Given the description of an element on the screen output the (x, y) to click on. 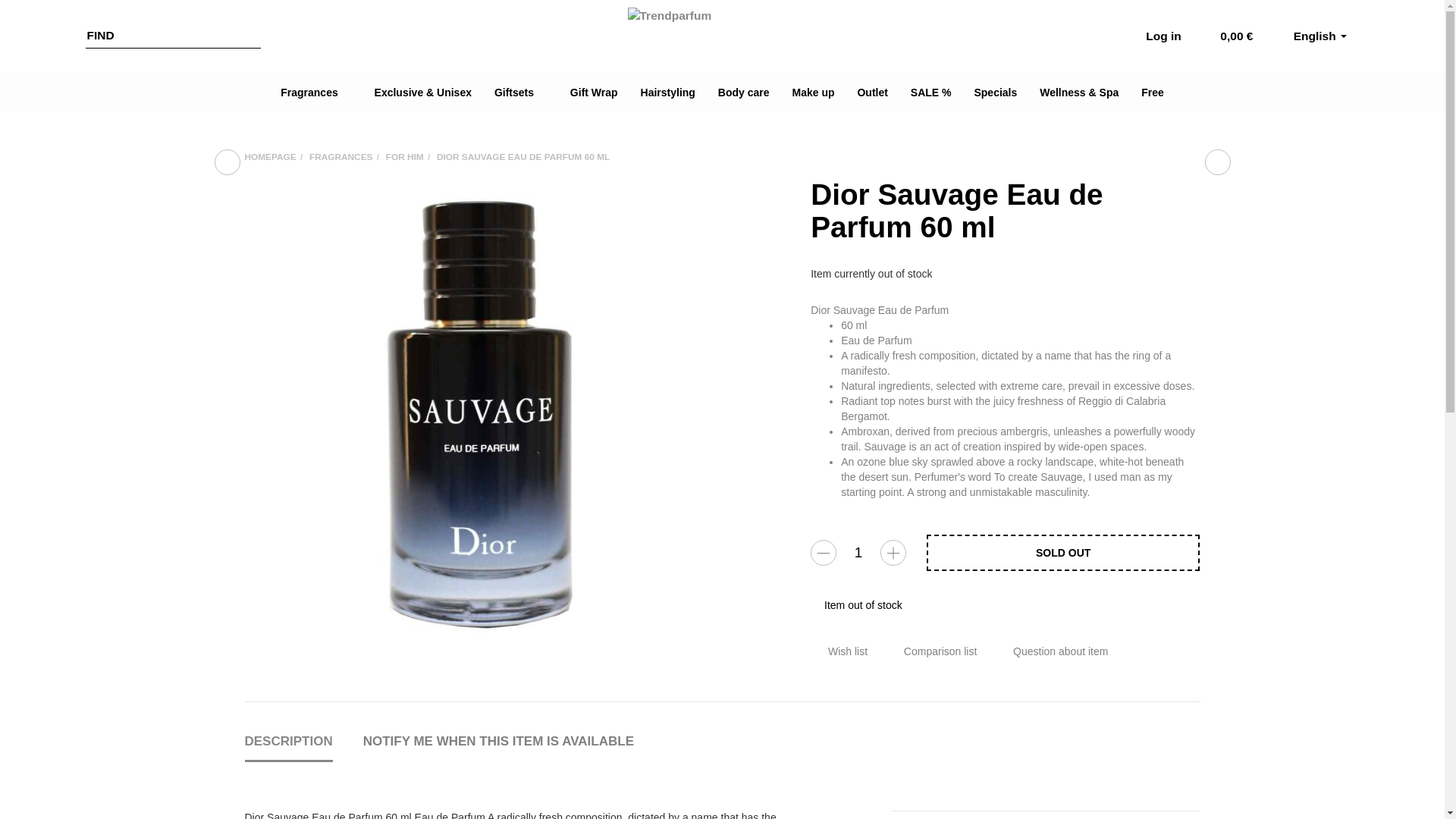
English (1319, 35)
Specials (994, 91)
Giftsets (521, 91)
Log in (1155, 36)
Free (1151, 91)
Gift Wrap (593, 91)
Make up (812, 91)
Trendparfum (721, 36)
Please select a language. (1319, 35)
Outlet (871, 91)
